Given the description of an element on the screen output the (x, y) to click on. 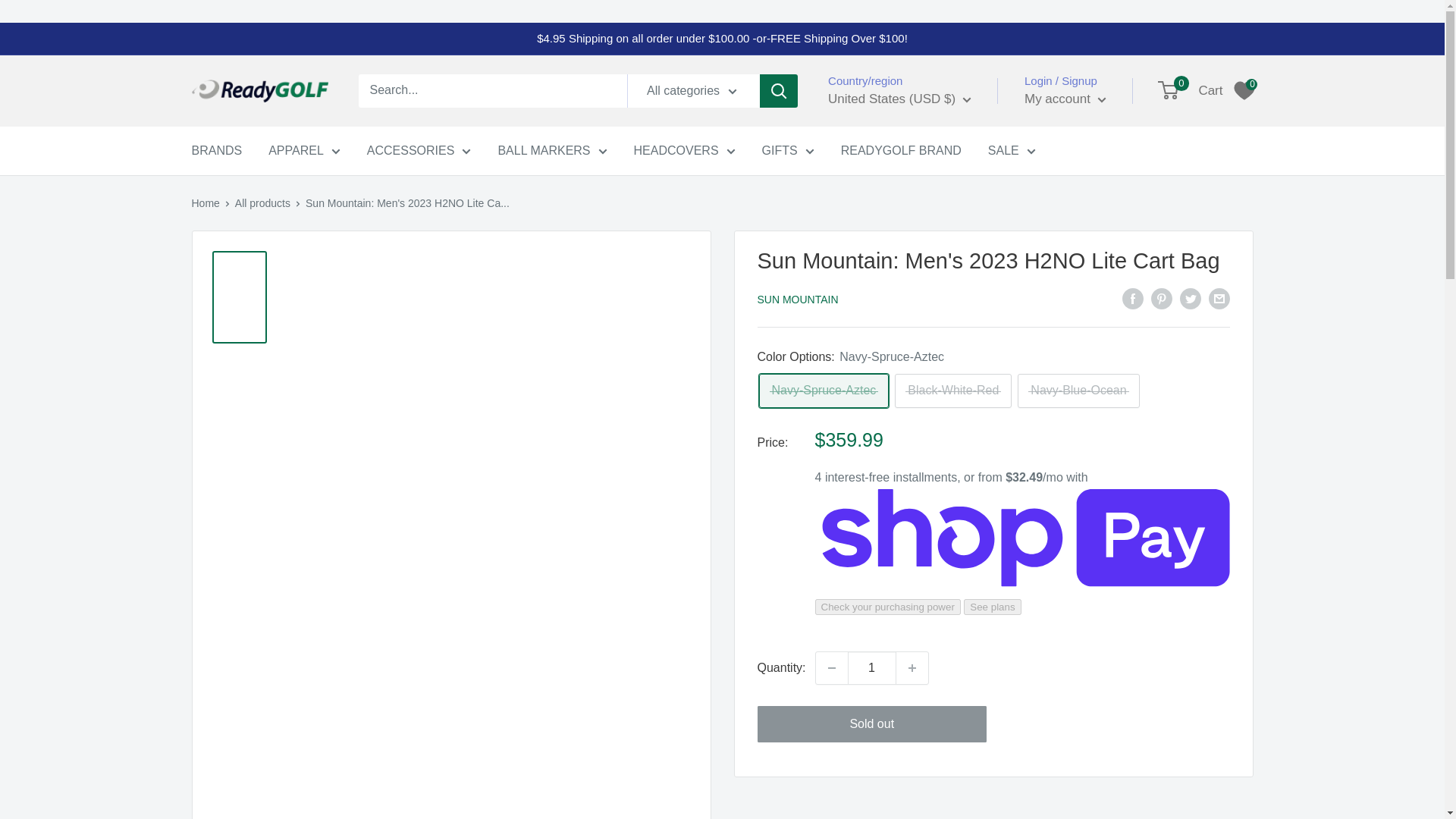
Increase quantity by 1 (912, 667)
1 (871, 667)
Navy-Spruce-Aztec (823, 390)
Navy-Blue-Ocean (1077, 390)
Decrease quantity by 1 (831, 667)
Black-White-Red (953, 390)
